Given the description of an element on the screen output the (x, y) to click on. 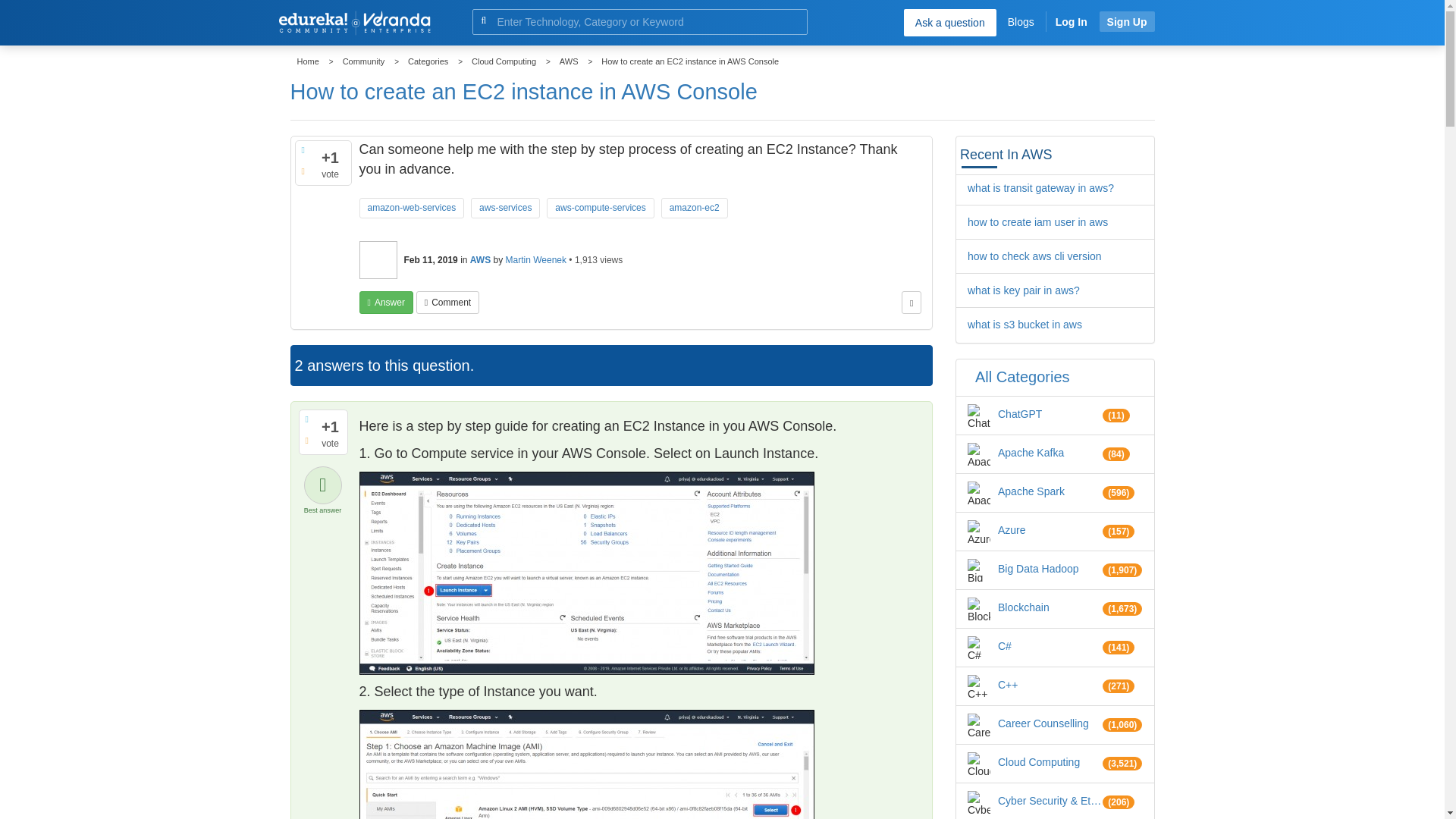
Answer this question (386, 302)
Blogs (1020, 21)
Ask a question (949, 22)
Add a comment on this question (447, 302)
